Given the description of an element on the screen output the (x, y) to click on. 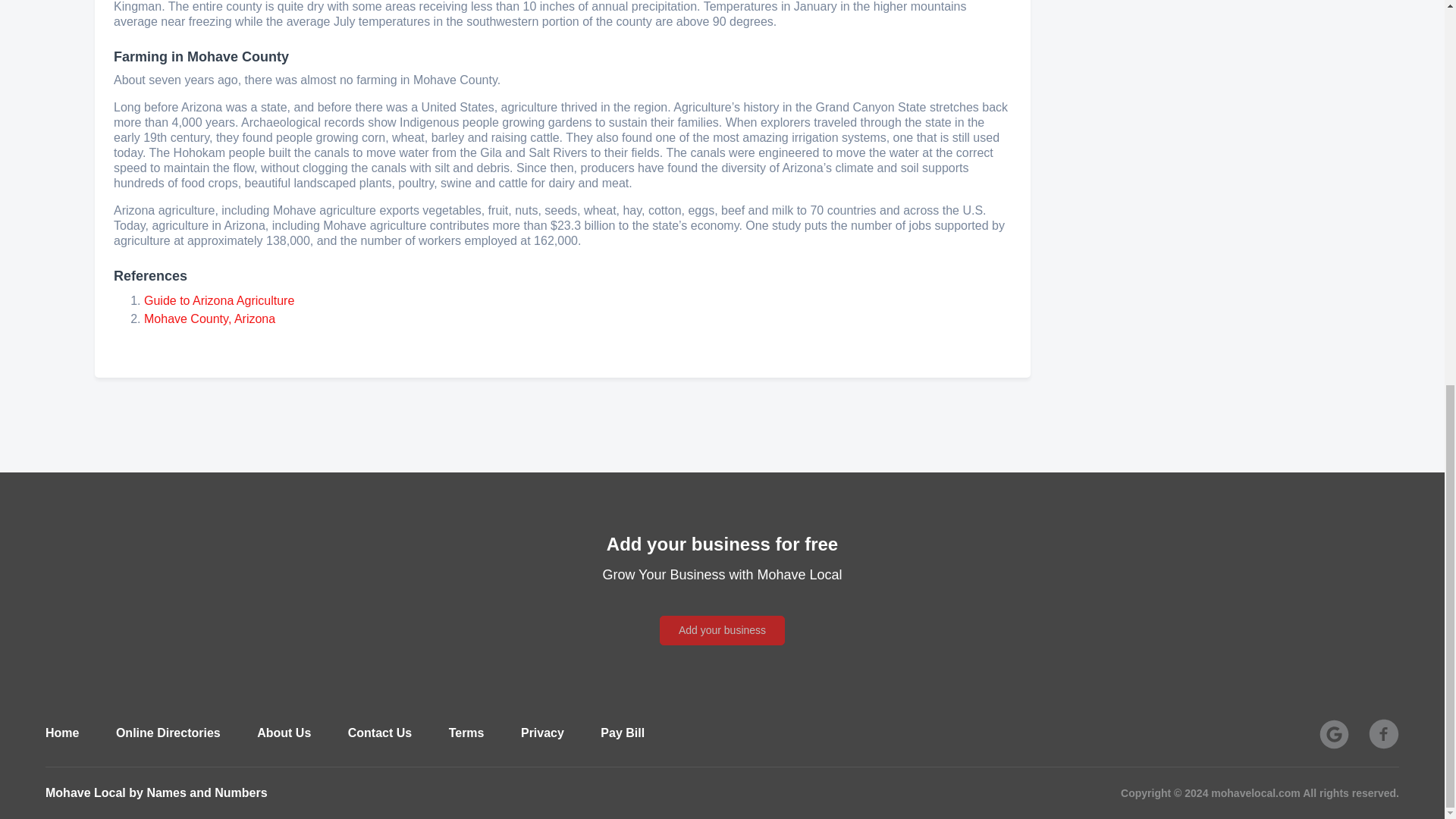
Names and Numbers (206, 792)
Pay Bill (622, 732)
Add your business (721, 630)
Home (61, 732)
Privacy (542, 732)
Online Directories (168, 732)
Terms (466, 732)
Guide to Arizona Agriculture (219, 300)
Mohave County, Arizona (209, 318)
Add your business (721, 612)
Contact Us (379, 732)
About Us (284, 732)
